Given the description of an element on the screen output the (x, y) to click on. 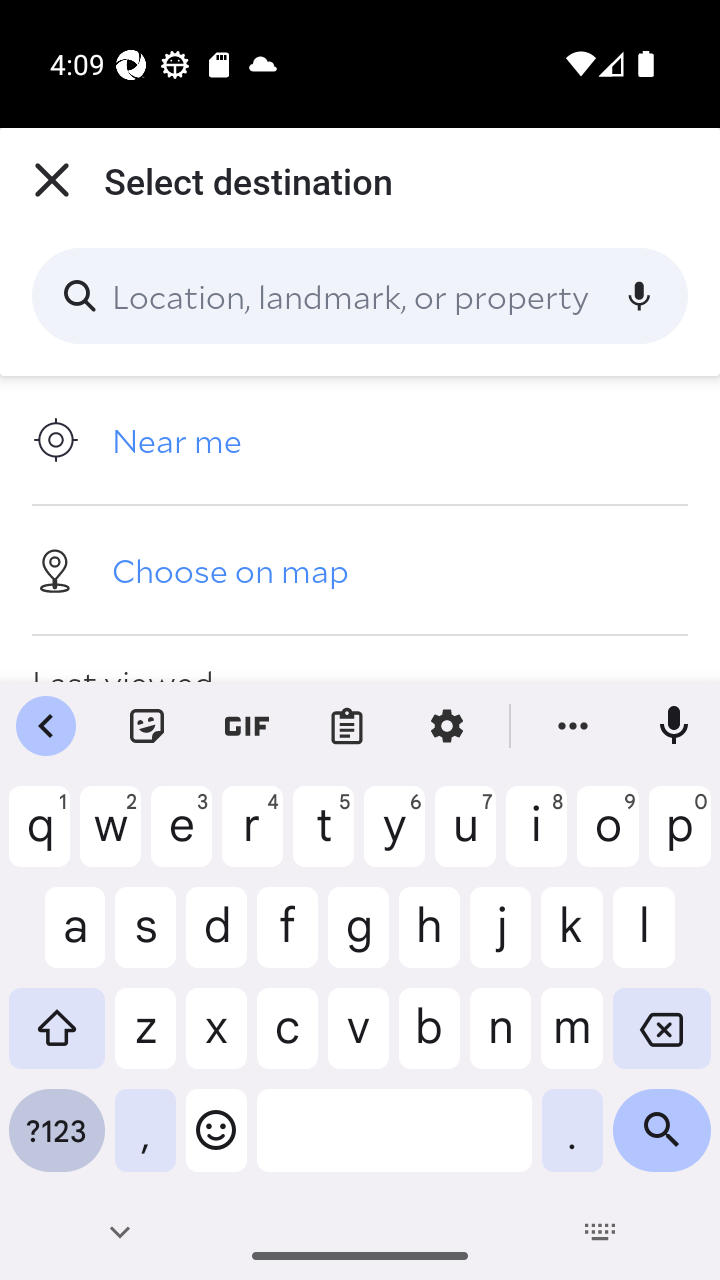
Location, landmark, or property (359, 296)
Near me (360, 440)
Choose on map (360, 569)
